Given the description of an element on the screen output the (x, y) to click on. 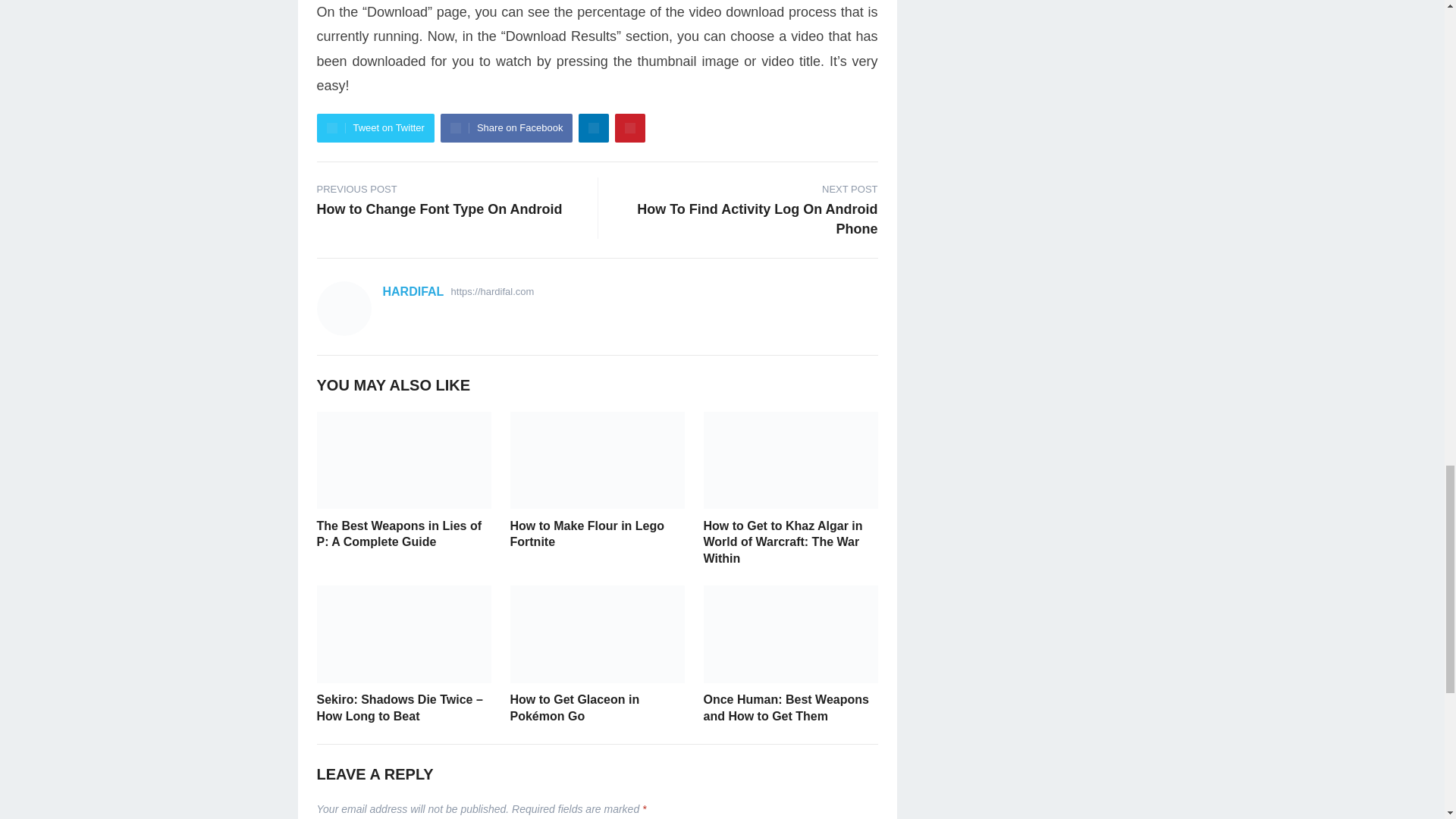
How to Make Flour in Lego Fortnite (586, 533)
Once Human: Best Weapons and How to Get Them (786, 707)
HARDIFAL (743, 208)
Tweet on Twitter (412, 291)
The Best Weapons in Lies of P: A Complete Guide (375, 127)
Pinterest (399, 533)
LinkedIn (629, 127)
Share on Facebook (593, 127)
